Given the description of an element on the screen output the (x, y) to click on. 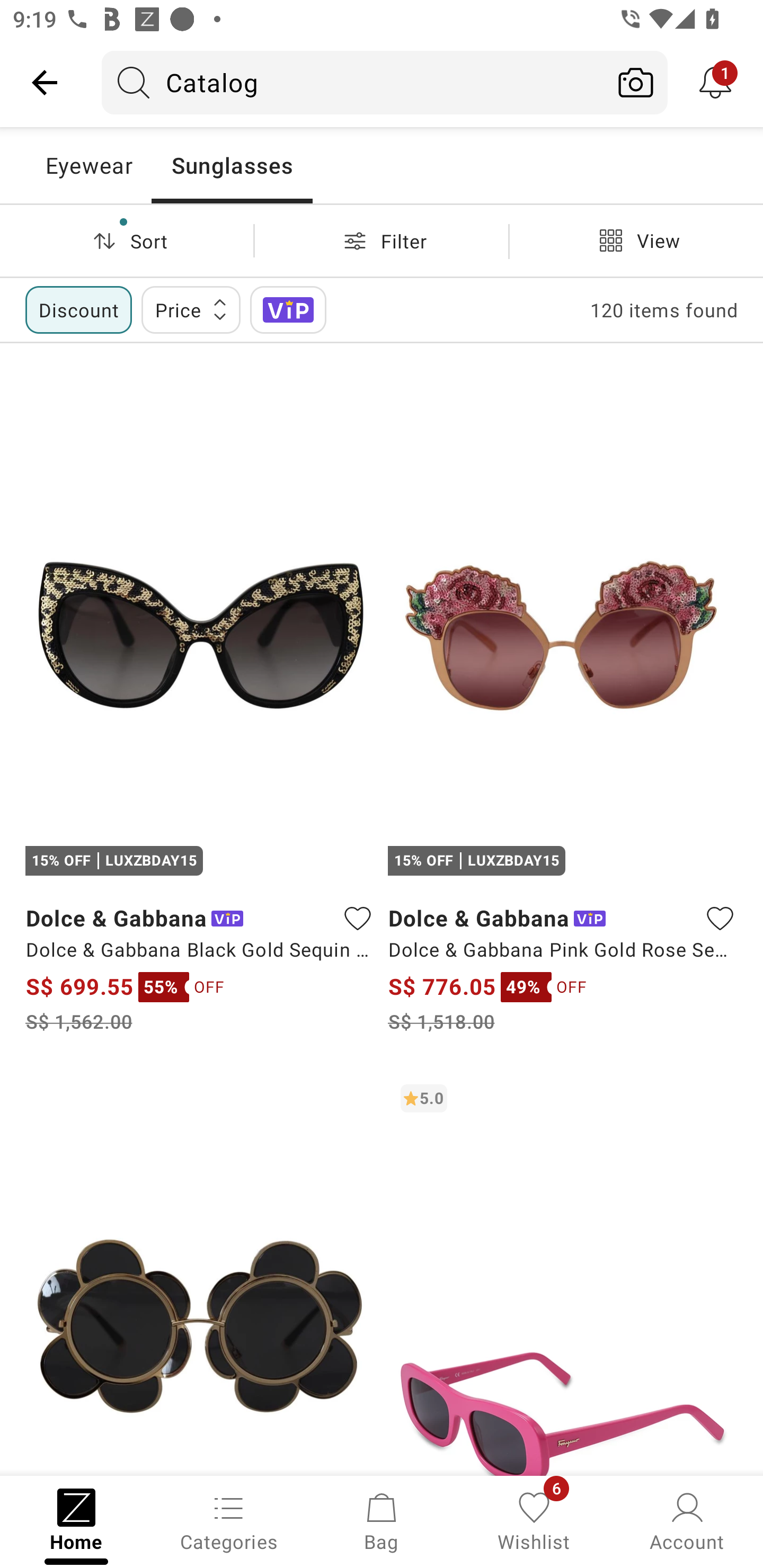
Navigate up (44, 82)
Catalog (352, 82)
Eyewear (88, 165)
Sort (126, 240)
Filter (381, 240)
View (636, 240)
Discount (78, 309)
Price (190, 309)
5.0 (562, 1272)
Categories (228, 1519)
Bag (381, 1519)
Wishlist, 6 new notifications Wishlist (533, 1519)
Account (686, 1519)
